Given the description of an element on the screen output the (x, y) to click on. 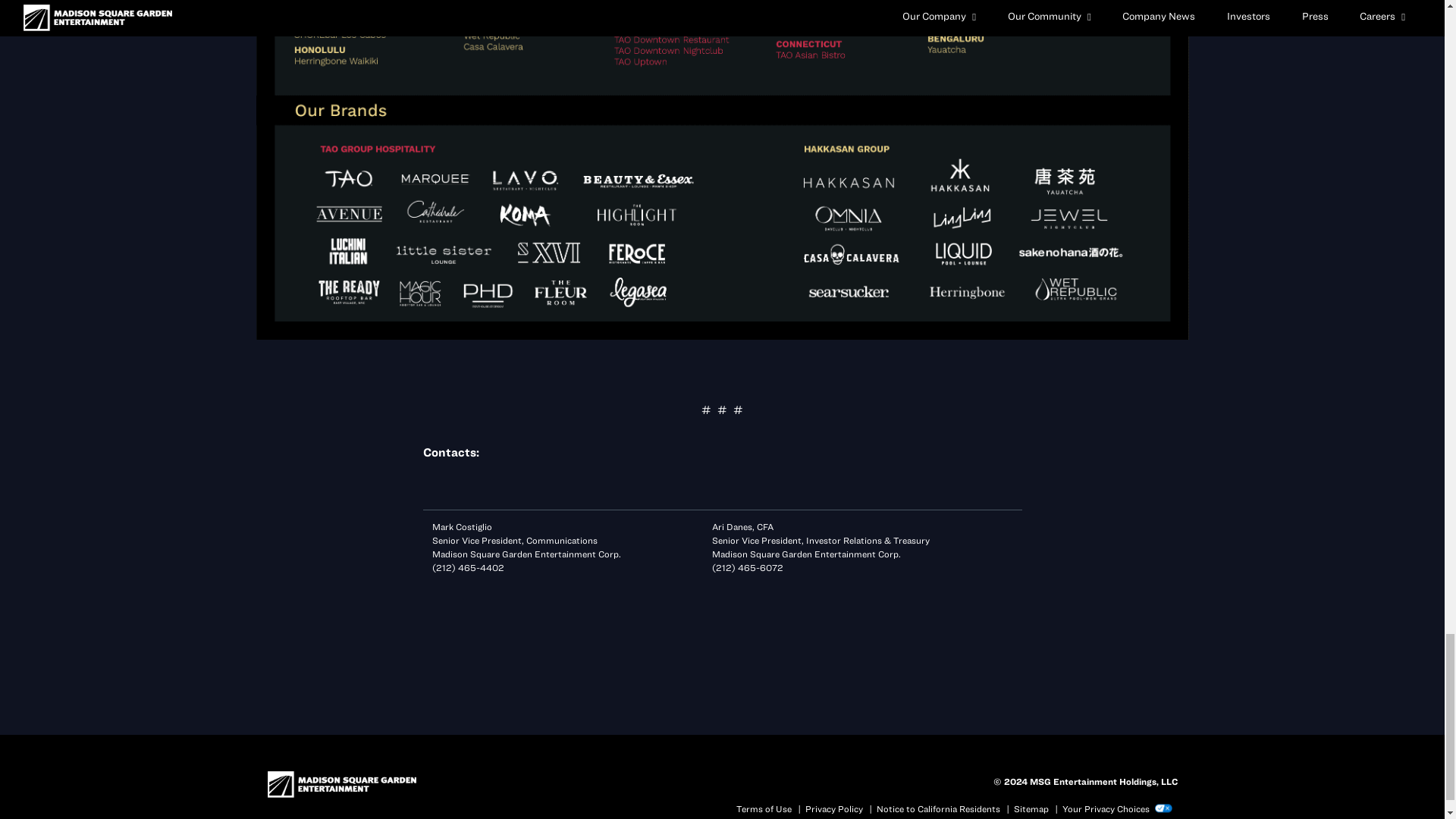
Terms of Use (762, 807)
Sitemap (1030, 807)
Notice to California Residents (938, 807)
Privacy Policy (834, 807)
